Given the description of an element on the screen output the (x, y) to click on. 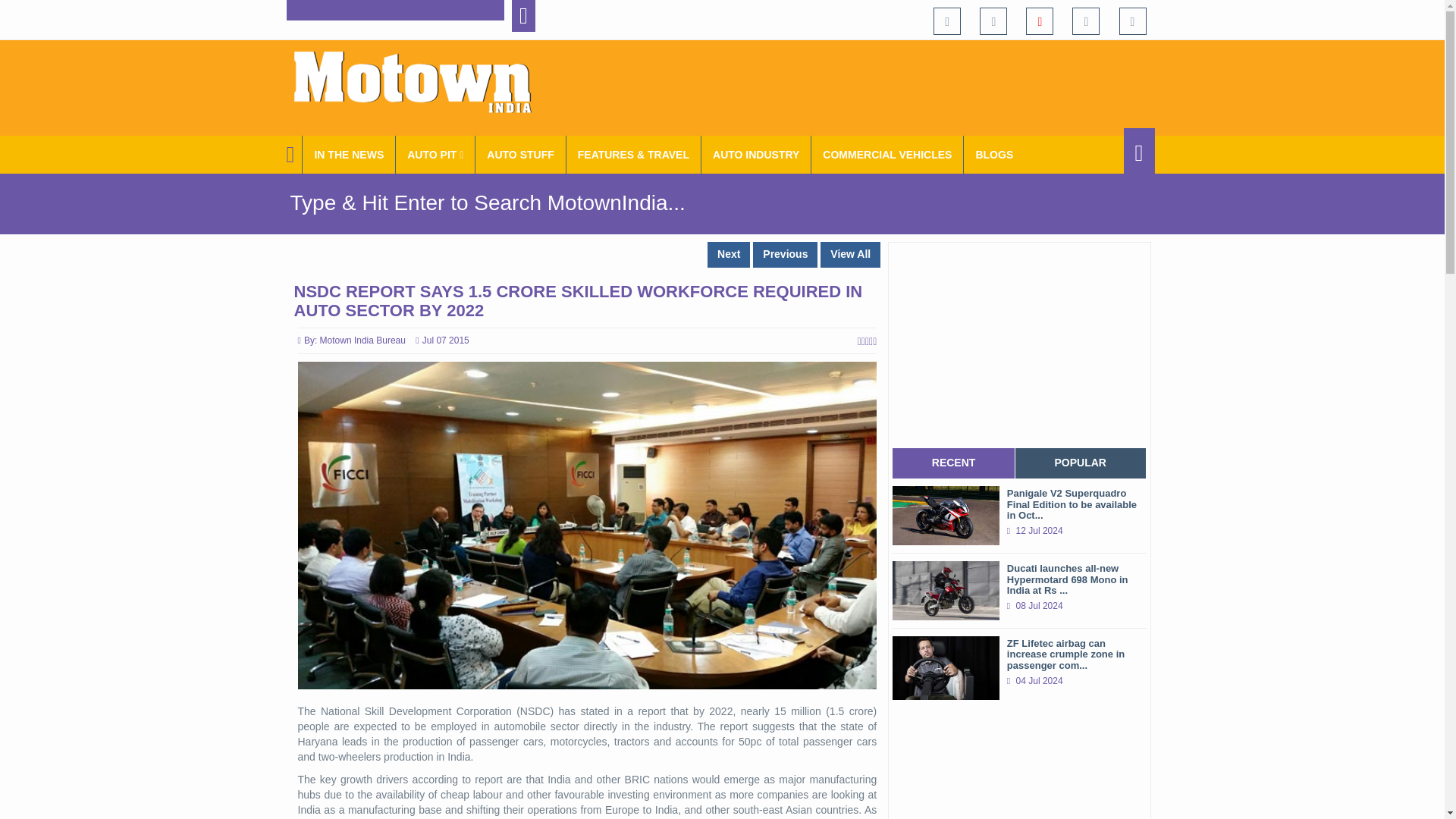
AUTO STUFF (521, 154)
View All (850, 254)
AUTO INDUSTRY (755, 154)
View All In The News - Motown India (349, 154)
Motown India on YouTube (1039, 21)
View All Auto-Pit - Motown India (436, 154)
Motown India on Twitter (993, 21)
BLOGS (994, 154)
COMMERCIAL VEHICLES (886, 154)
Previous (784, 254)
IN THE NEWS (349, 154)
Motown India on Facebook (946, 21)
Motown India on Instagram (1085, 21)
Motown India on LinkedIn (1133, 21)
MotownIndia (421, 81)
